Given the description of an element on the screen output the (x, y) to click on. 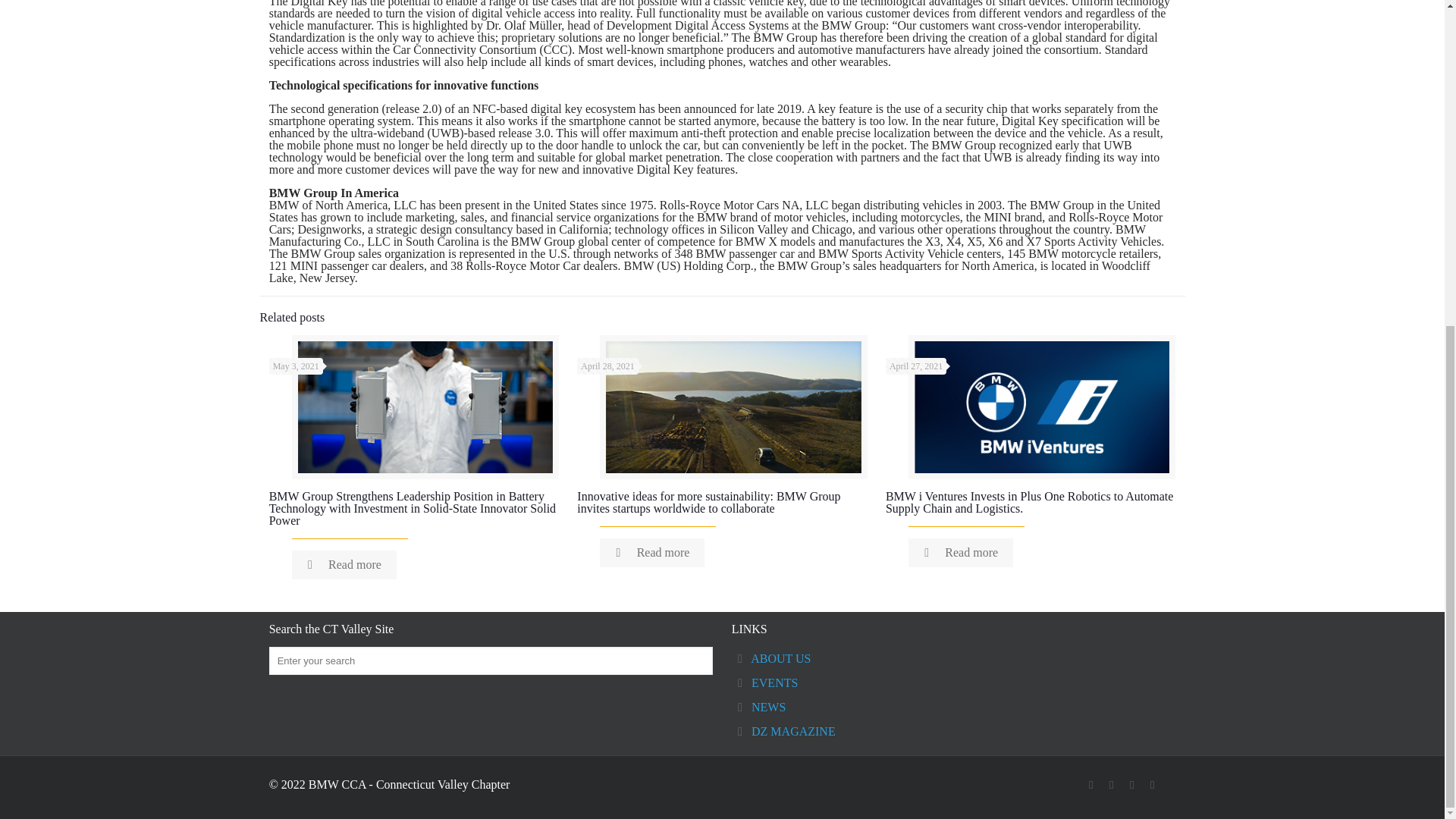
Twitter (1111, 784)
Read more (344, 564)
YouTube (1132, 784)
Facebook (1091, 784)
Instagram (1152, 784)
